Given the description of an element on the screen output the (x, y) to click on. 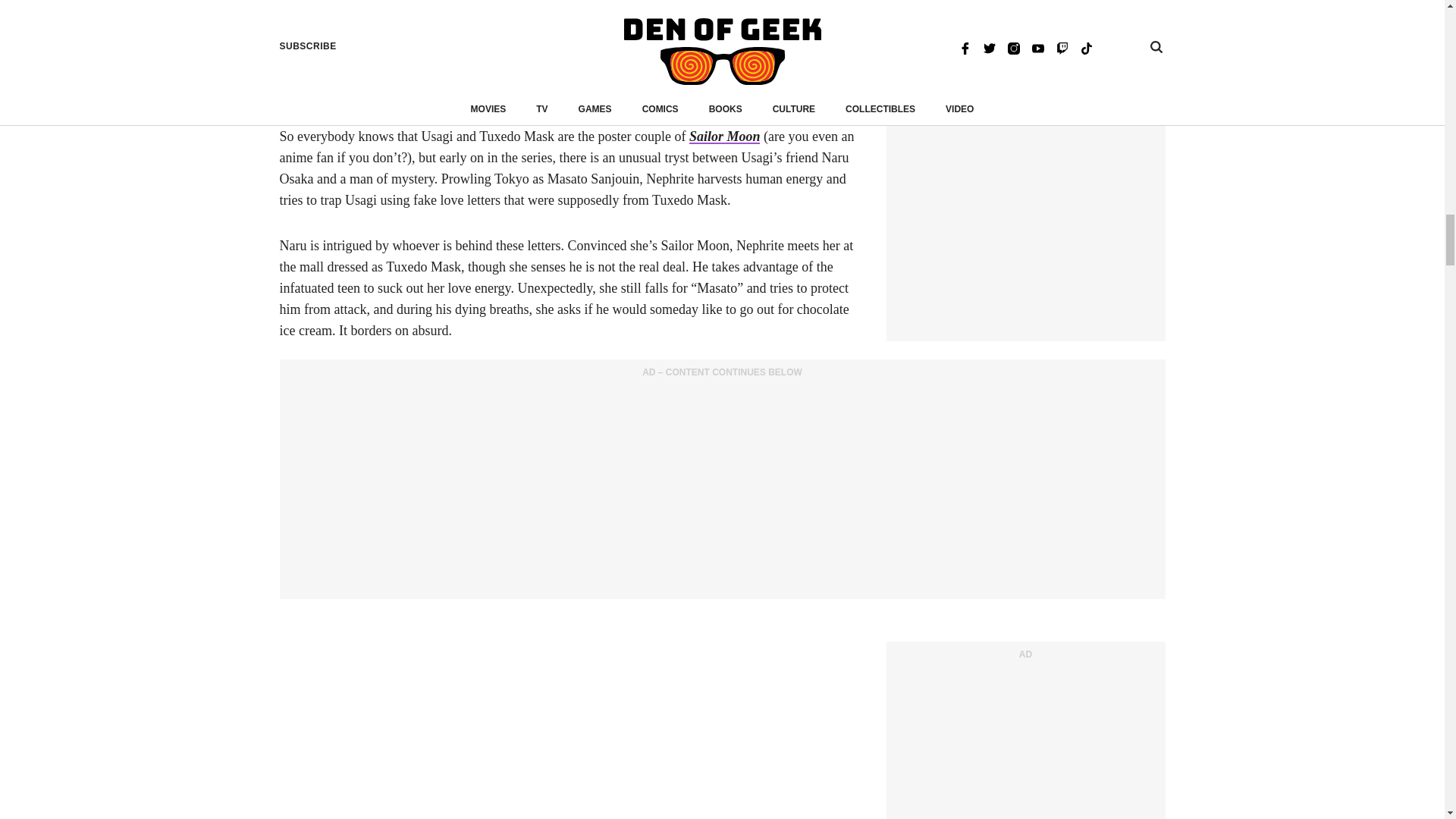
Sailor Moon (724, 136)
